Given the description of an element on the screen output the (x, y) to click on. 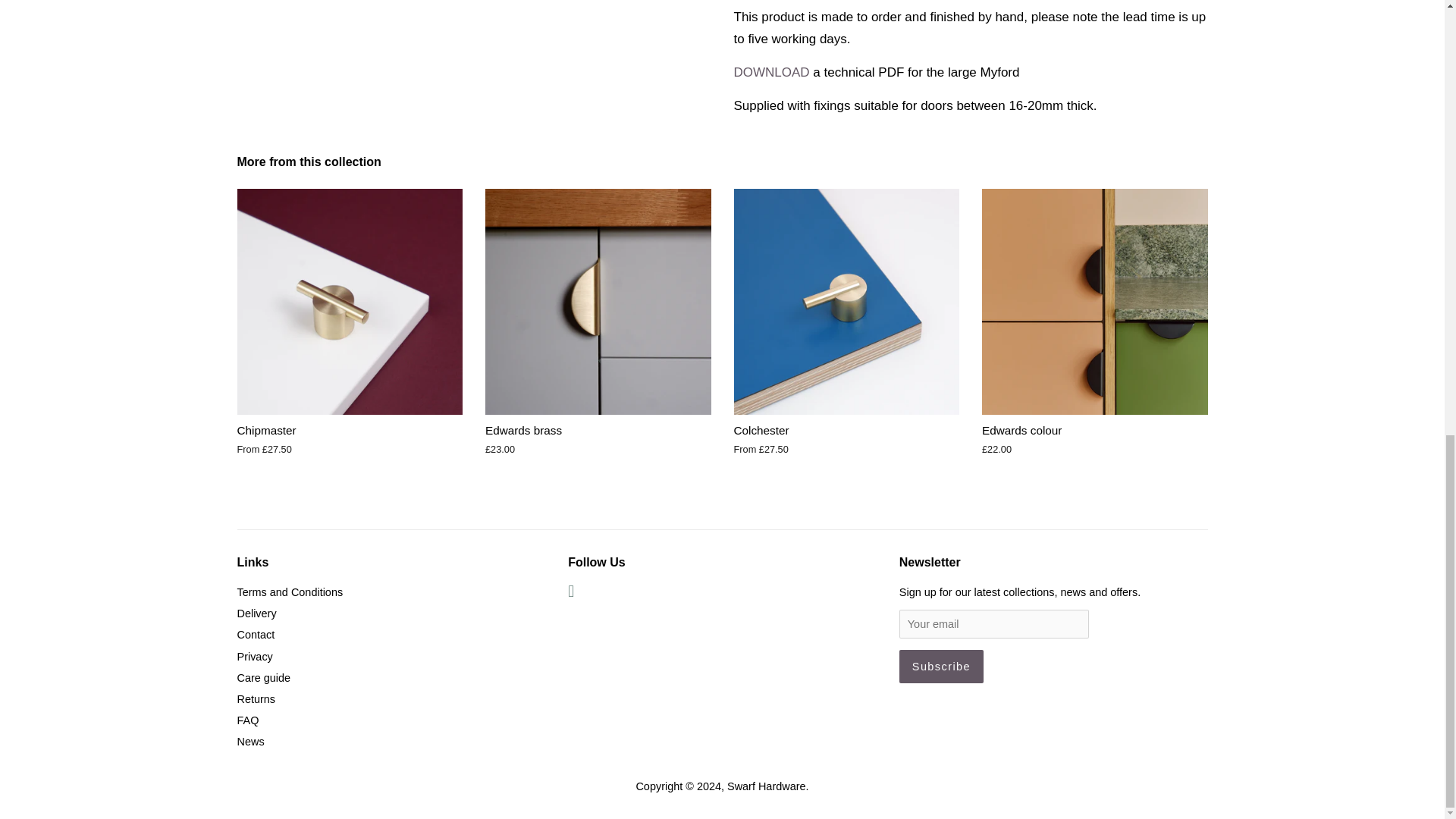
Subscribe (941, 666)
Returns (255, 698)
Privacy (253, 656)
Care guide (262, 677)
FAQ (247, 720)
Large Myford Drawing (771, 72)
DOWNLOAD (771, 72)
Delivery (255, 613)
Contact (255, 634)
Terms and Conditions (288, 592)
